Given the description of an element on the screen output the (x, y) to click on. 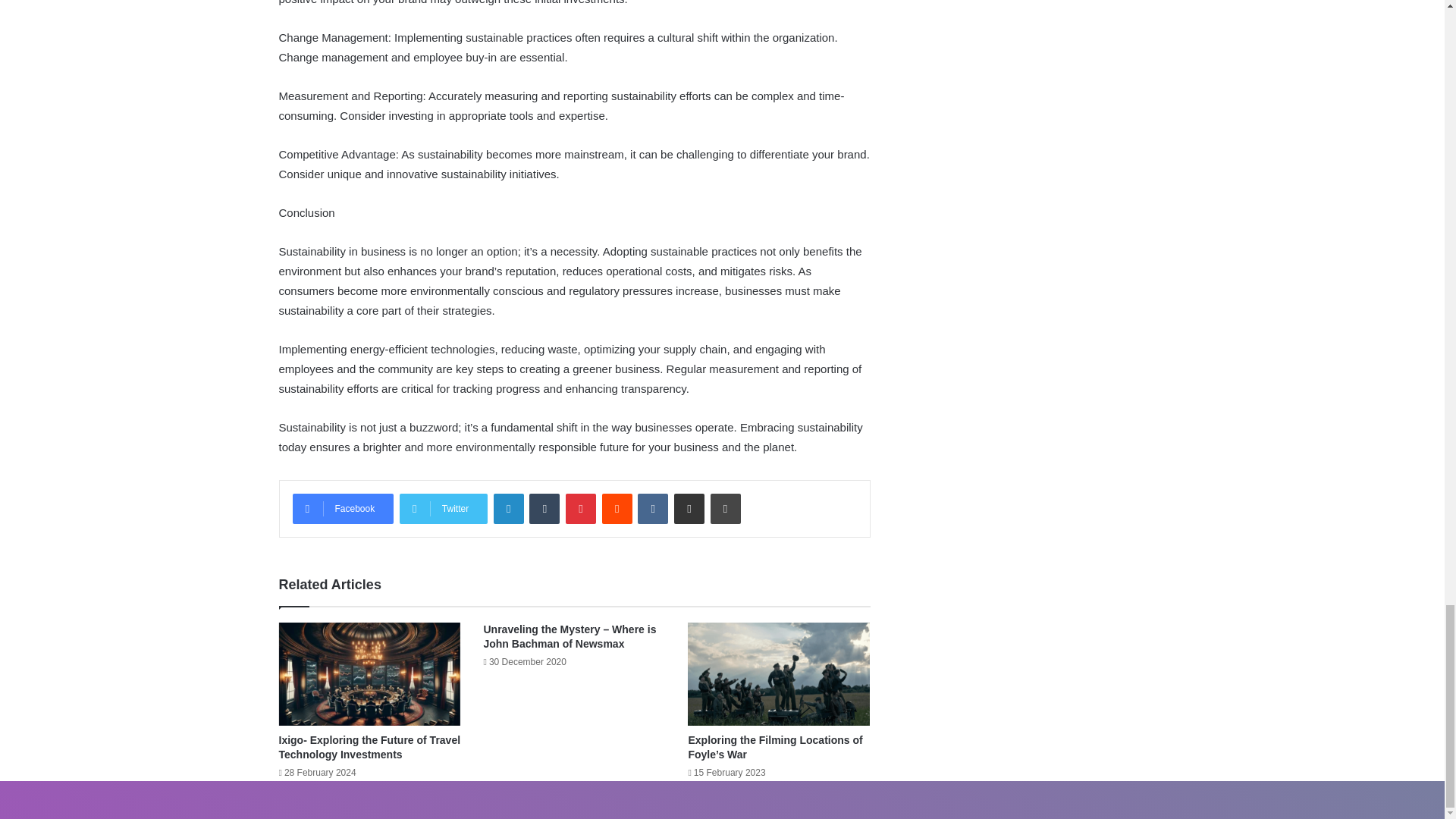
Share via Email (689, 508)
Facebook (343, 508)
Tumblr (544, 508)
Twitter (442, 508)
VKontakte (652, 508)
Print (725, 508)
Reddit (616, 508)
Twitter (442, 508)
Pinterest (580, 508)
Print (725, 508)
